Given the description of an element on the screen output the (x, y) to click on. 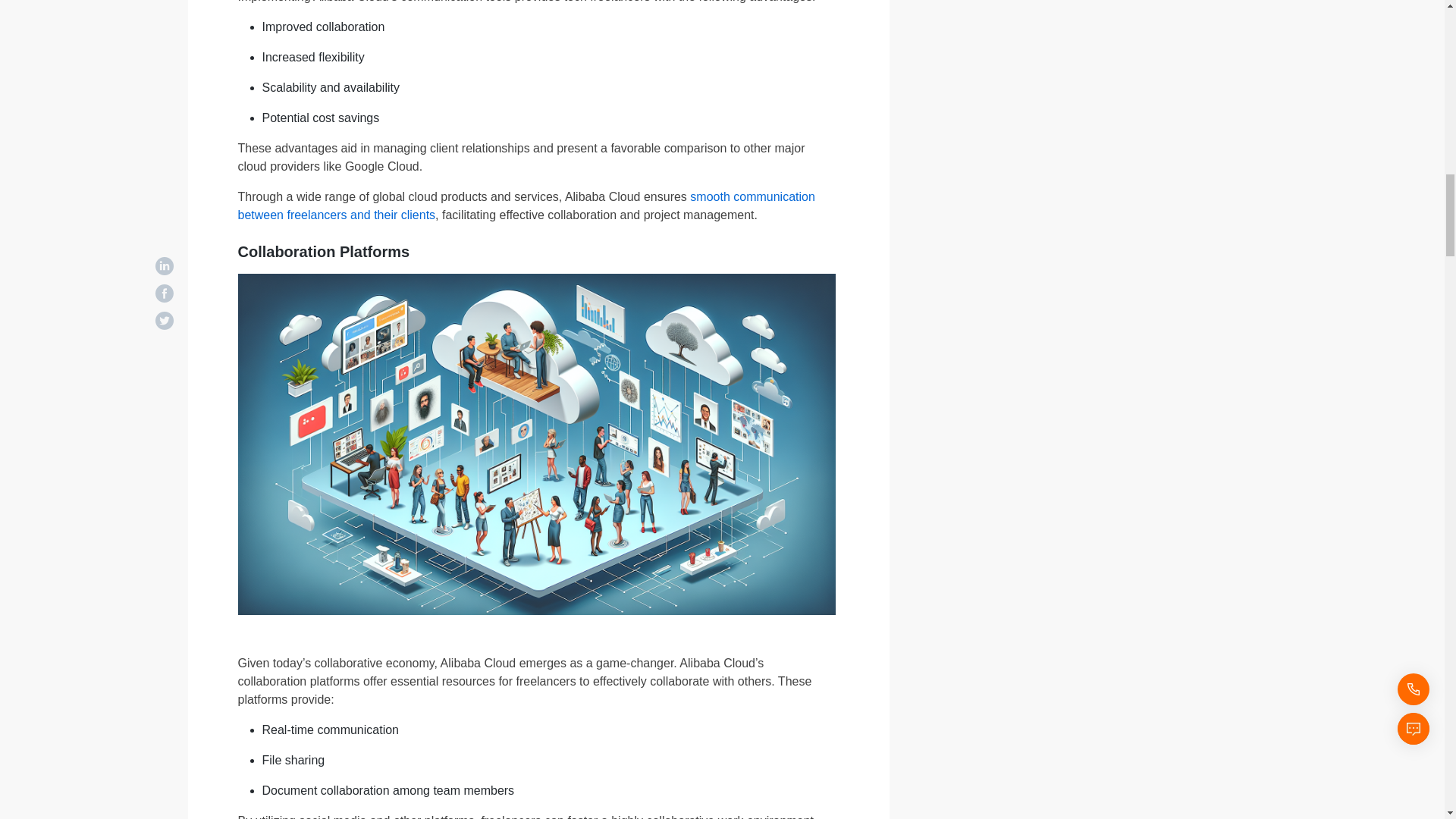
smooth communication between freelancers and their clients (526, 205)
